Given the description of an element on the screen output the (x, y) to click on. 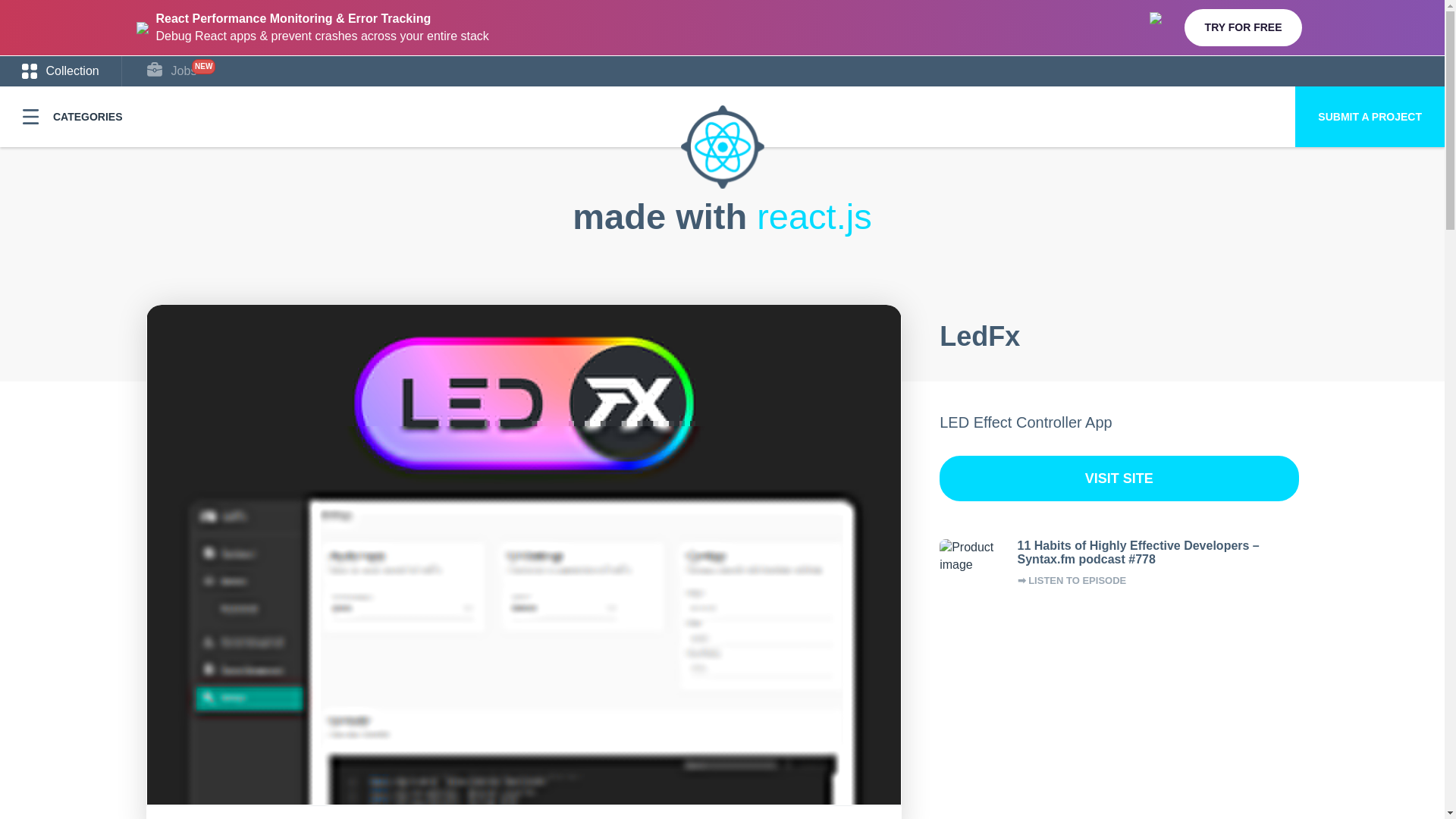
TRY FOR FREE (1244, 27)
VISIT SITE (1118, 478)
navbar-meta--collection Created with Sketch. Collection (60, 70)
SUBMIT A PROJECT (1369, 116)
CATEGORIES (72, 116)
LedFx (979, 336)
navbar-meta--collection Created with Sketch. (29, 70)
